Given the description of an element on the screen output the (x, y) to click on. 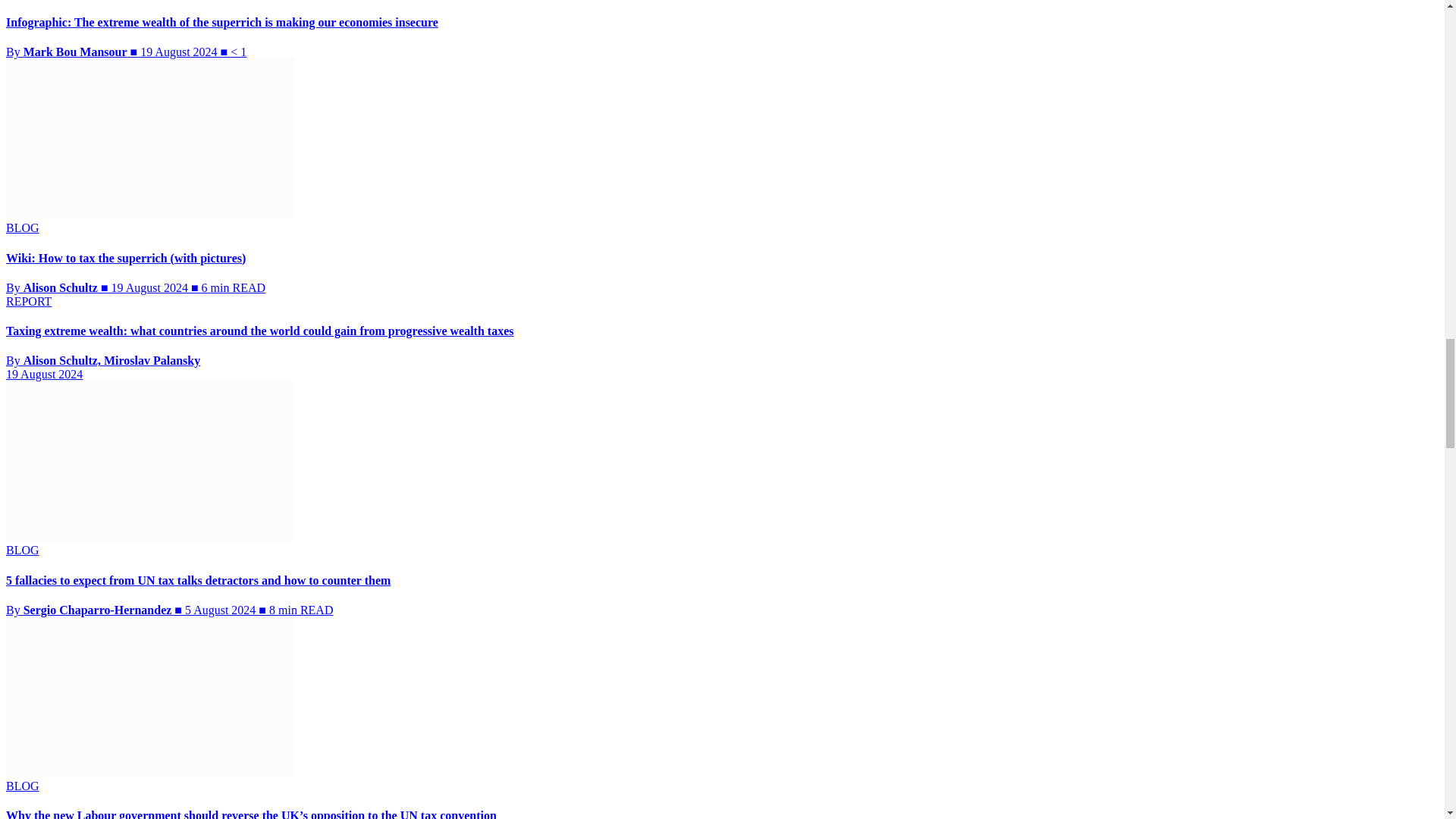
PM Keir Starmer and President Biden speak at NATO Summit (149, 696)
Retire-Rich (149, 138)
